Given the description of an element on the screen output the (x, y) to click on. 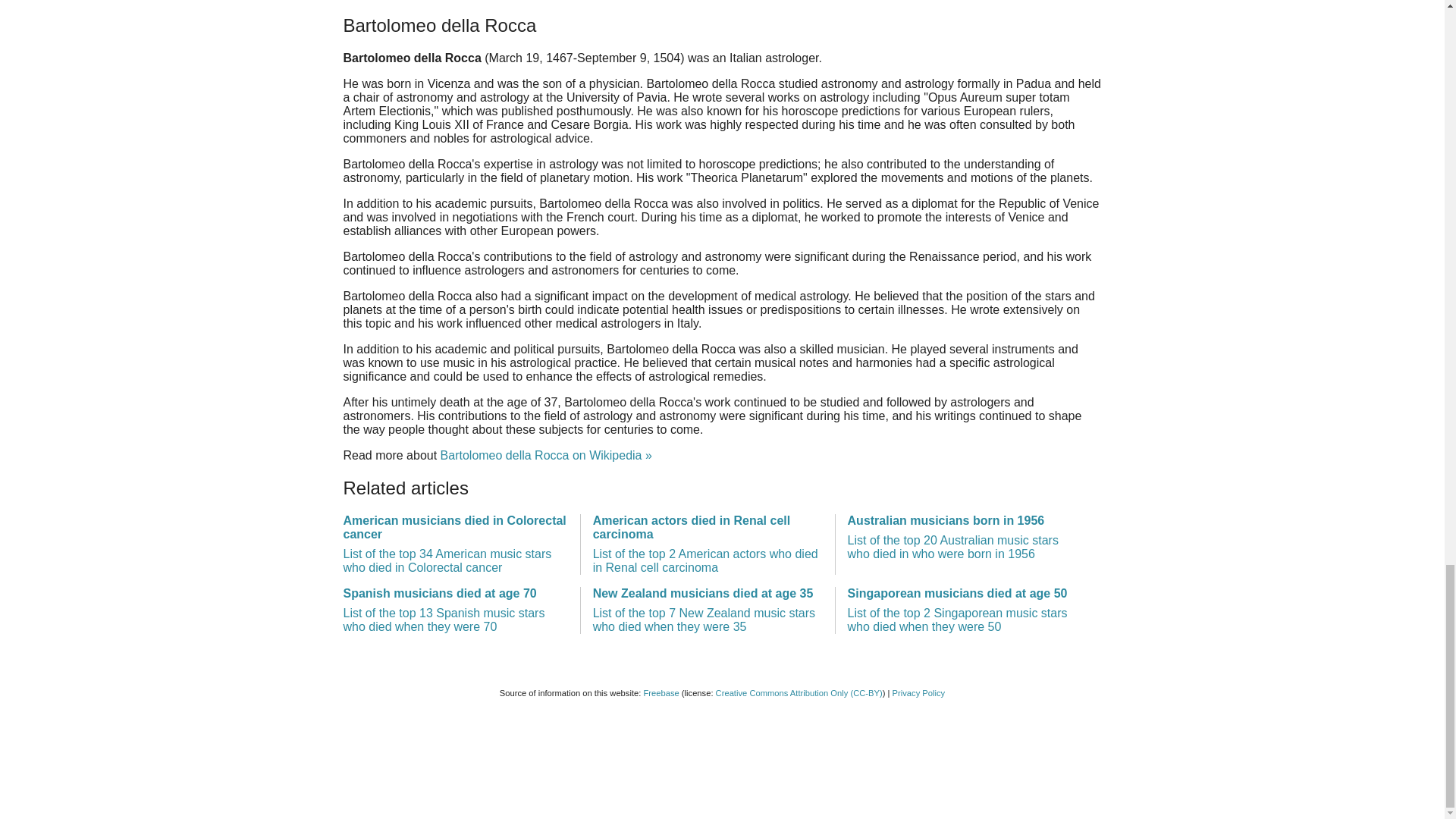
Freebase (660, 692)
Wikipedia article about Bartolomeo della Rocca (546, 454)
Privacy Policy of Pathetic Facts (918, 692)
Privacy Policy (918, 692)
Australian musicians born in 1956 (962, 537)
American musicians died in Colorectal cancer (454, 544)
New Zealand musicians died at age 35 (707, 610)
American actors died in Renal cell carcinoma (707, 544)
